Given the description of an element on the screen output the (x, y) to click on. 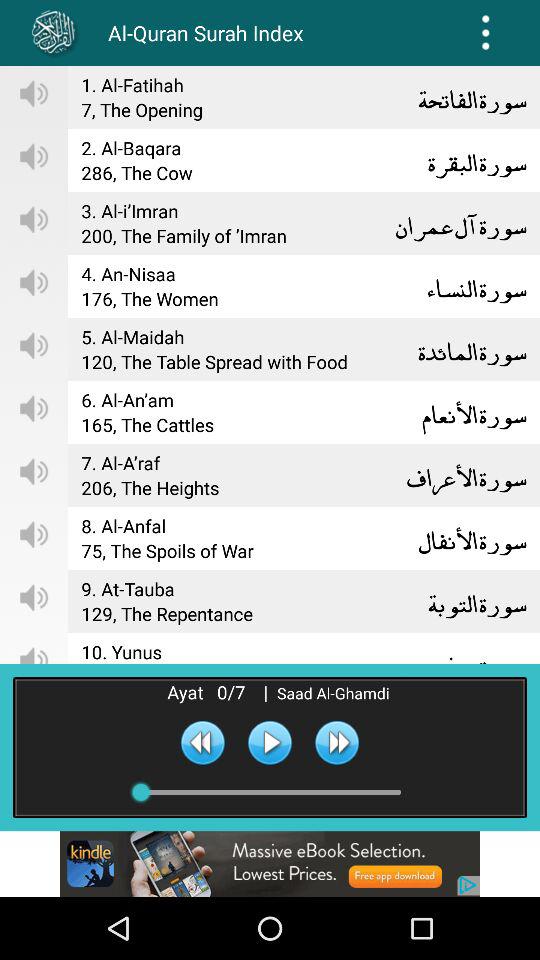
click to previous option (202, 742)
